Given the description of an element on the screen output the (x, y) to click on. 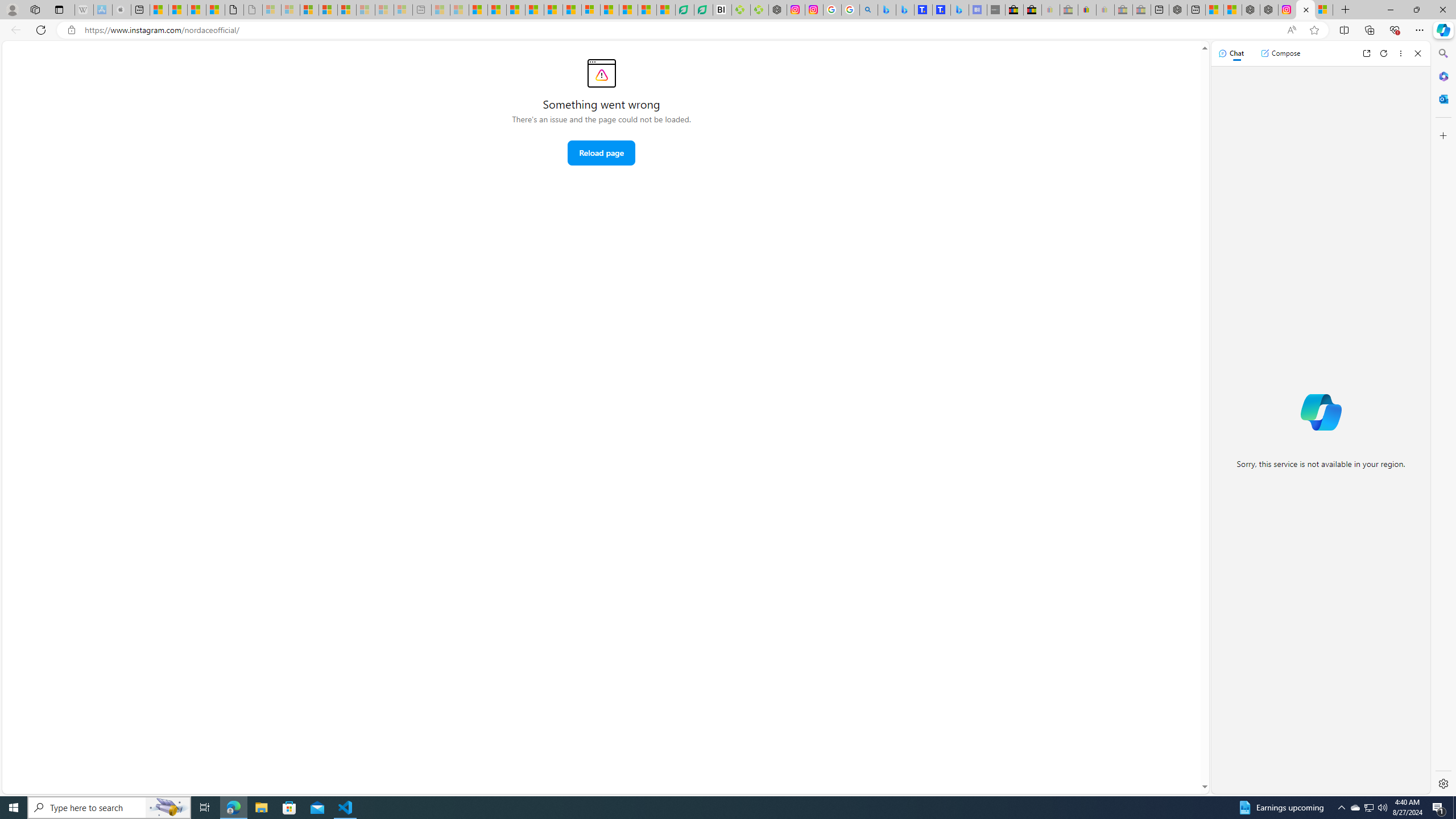
Food and Drink - MSN (497, 9)
Microsoft Bing Travel - Stays in Bangkok, Bangkok, Thailand (904, 9)
Sign in to your Microsoft account - Sleeping (271, 9)
Nordace - Nordace Edin Collection (778, 9)
The importance of being lazy (1232, 9)
